Given the description of an element on the screen output the (x, y) to click on. 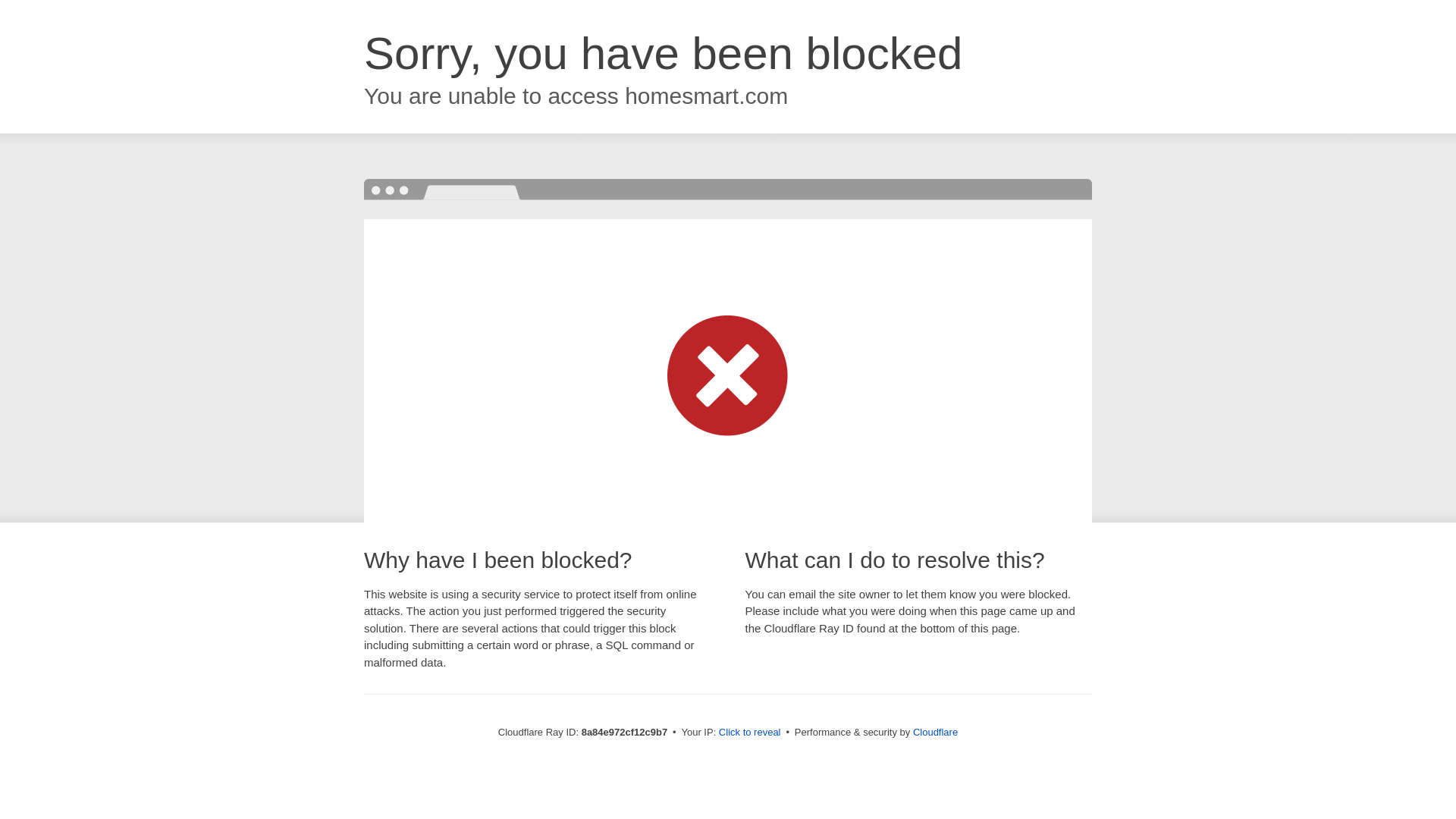
Click to reveal (749, 732)
Cloudflare (935, 731)
